Given the description of an element on the screen output the (x, y) to click on. 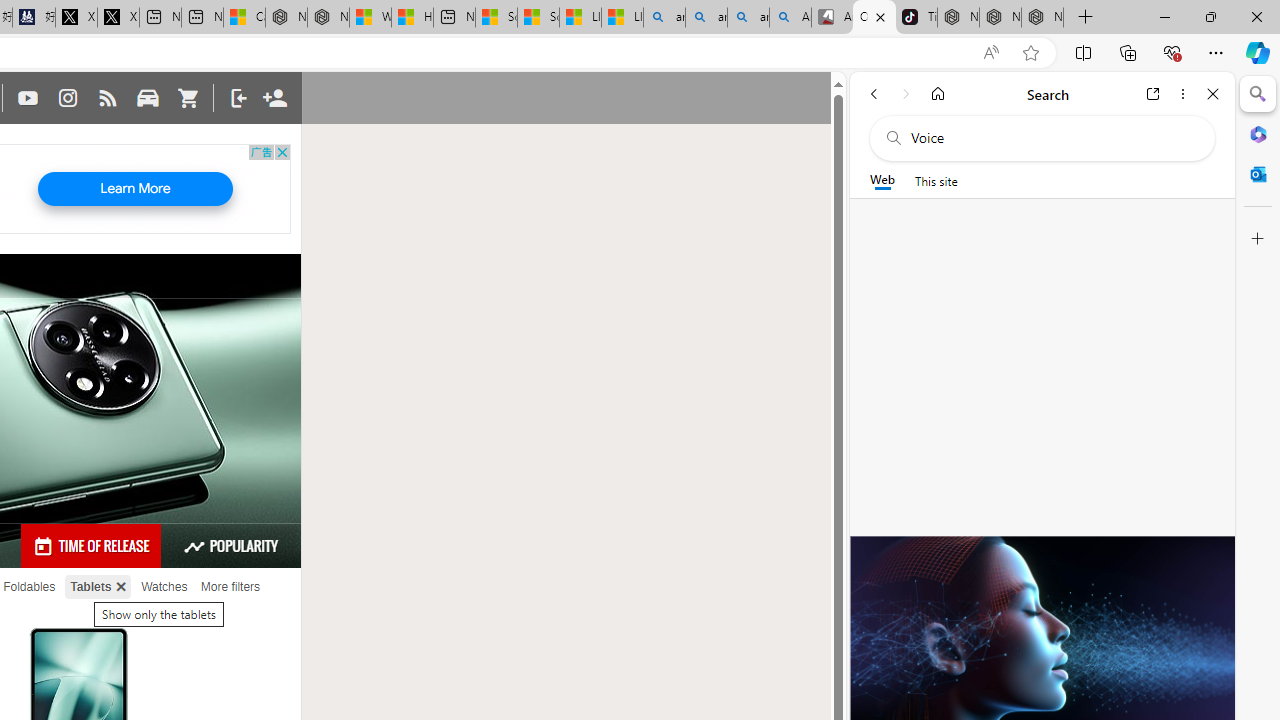
Watches (164, 587)
Nordace Siena Pro 15 Backpack (1000, 17)
